Given the description of an element on the screen output the (x, y) to click on. 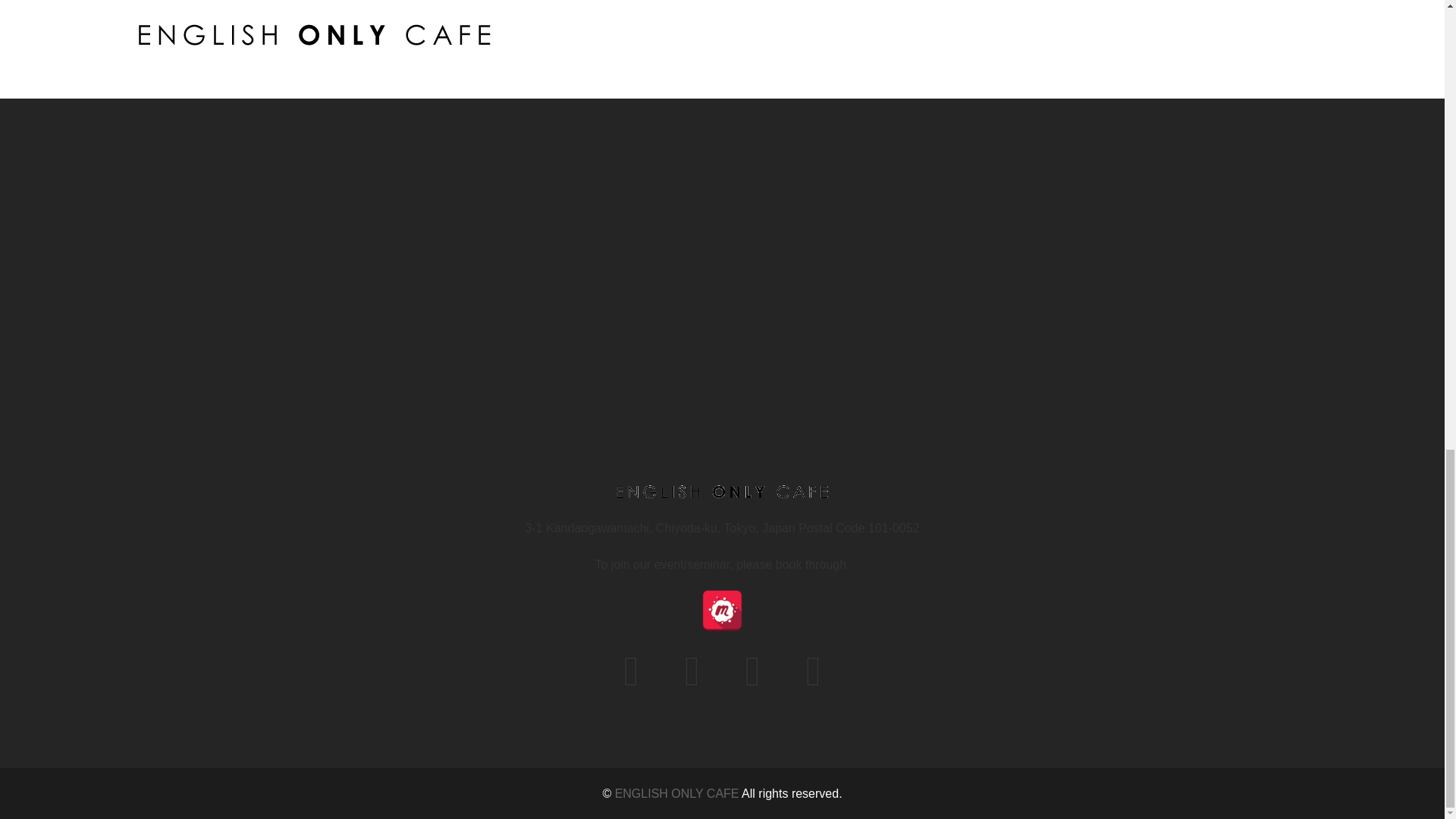
ENGLISH ONLY CAFE (676, 793)
Youtube (812, 680)
Instagram (751, 680)
Twitter (691, 680)
Fb (630, 680)
Meetup (721, 610)
